Given the description of an element on the screen output the (x, y) to click on. 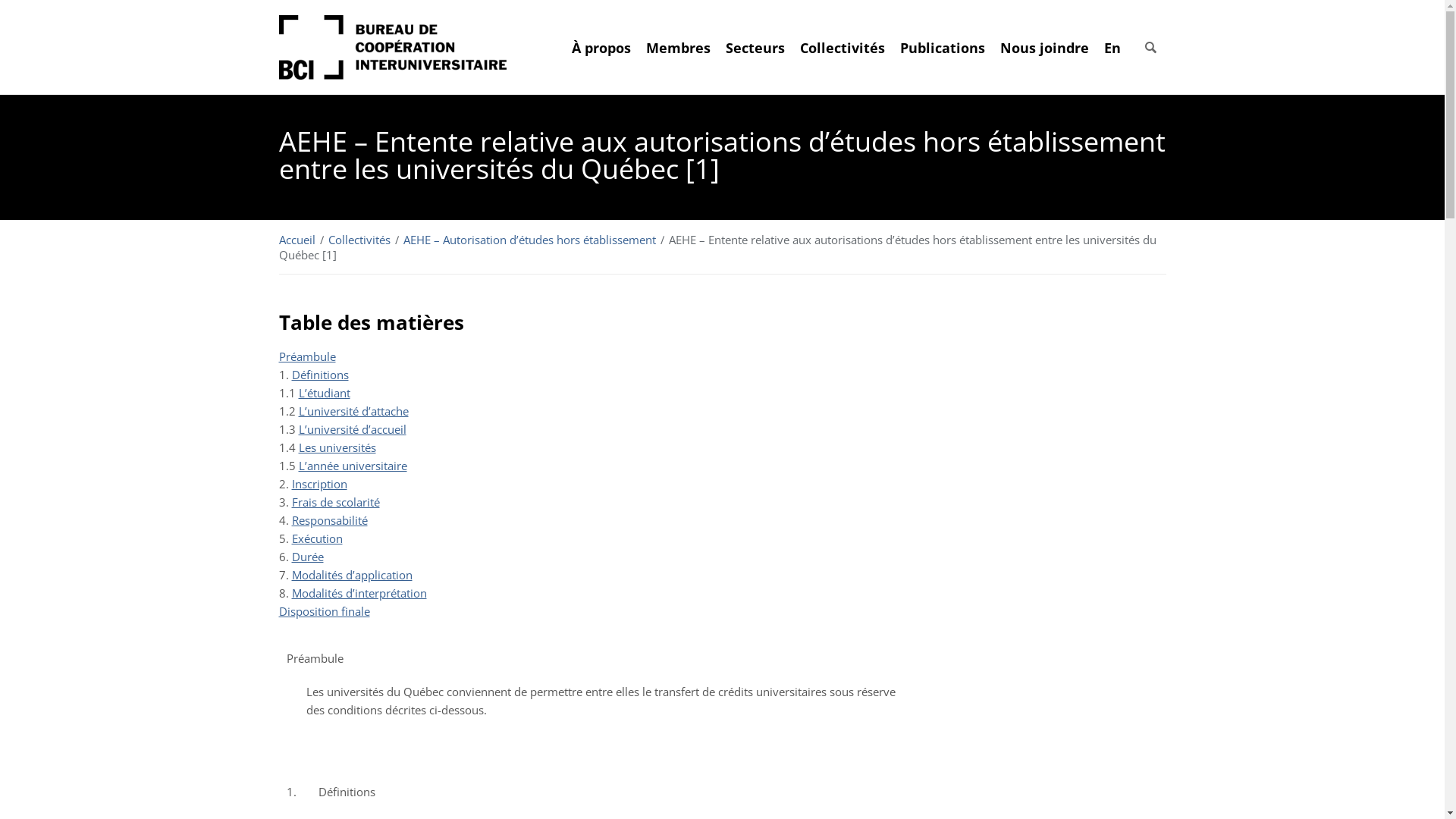
Membres Element type: text (678, 47)
Disposition finale Element type: text (324, 610)
Inscription Element type: text (318, 483)
Nous joindre Element type: text (1043, 47)
Secteurs Element type: text (754, 47)
En Element type: text (1108, 47)
Publications Element type: text (941, 47)
Accueil Element type: text (298, 239)
